Given the description of an element on the screen output the (x, y) to click on. 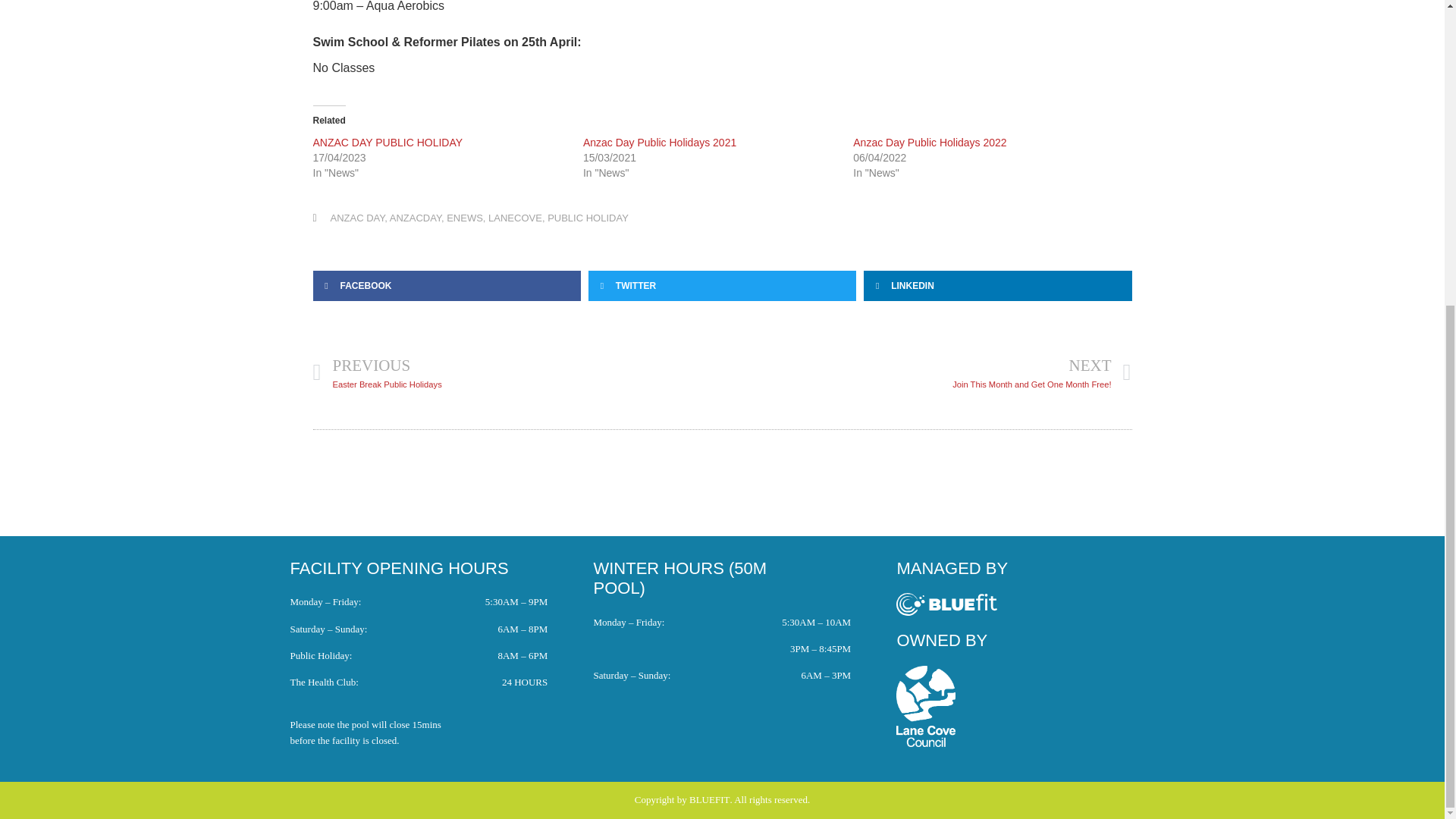
Anzac Day Public Holidays 2021 (659, 142)
ANZAC DAY PUBLIC HOLIDAY (388, 142)
Anzac Day Public Holidays 2022 (929, 142)
